Given the description of an element on the screen output the (x, y) to click on. 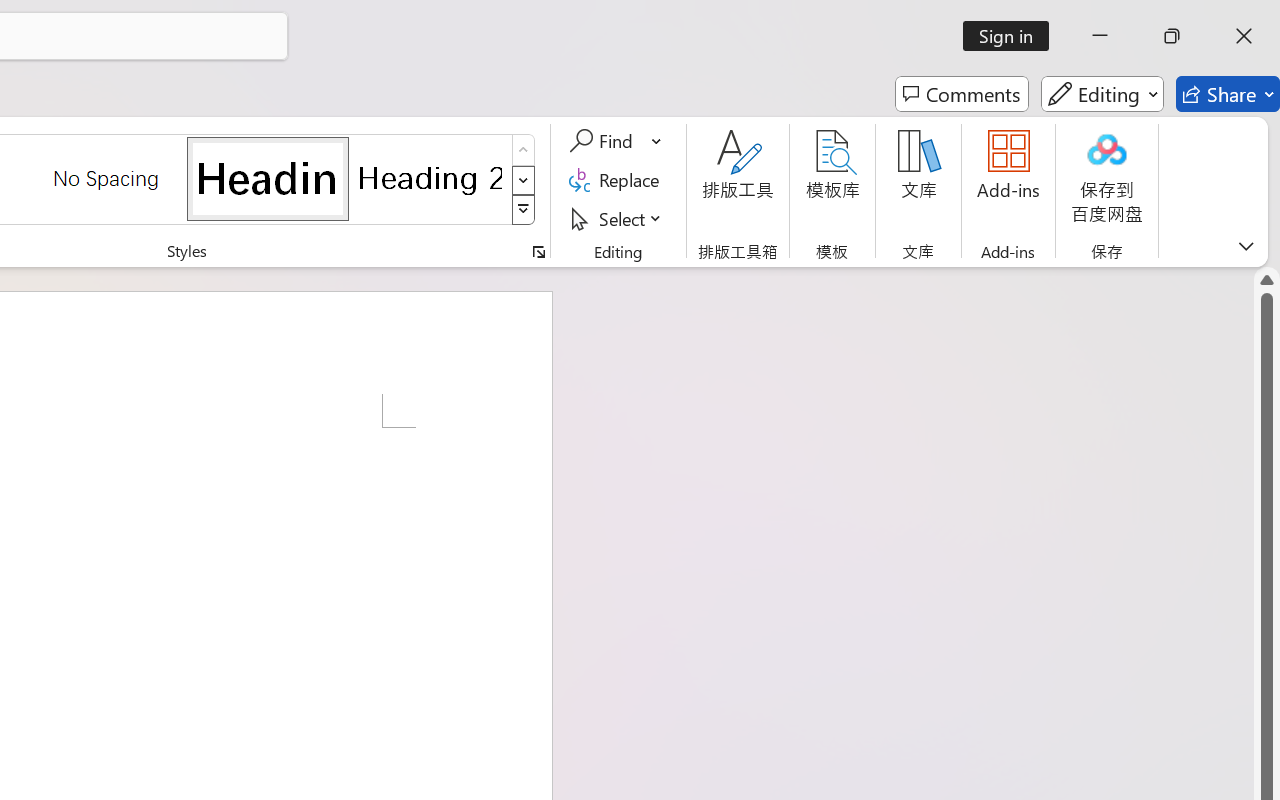
Sign in (1012, 35)
Editing (1101, 94)
